Given the description of an element on the screen output the (x, y) to click on. 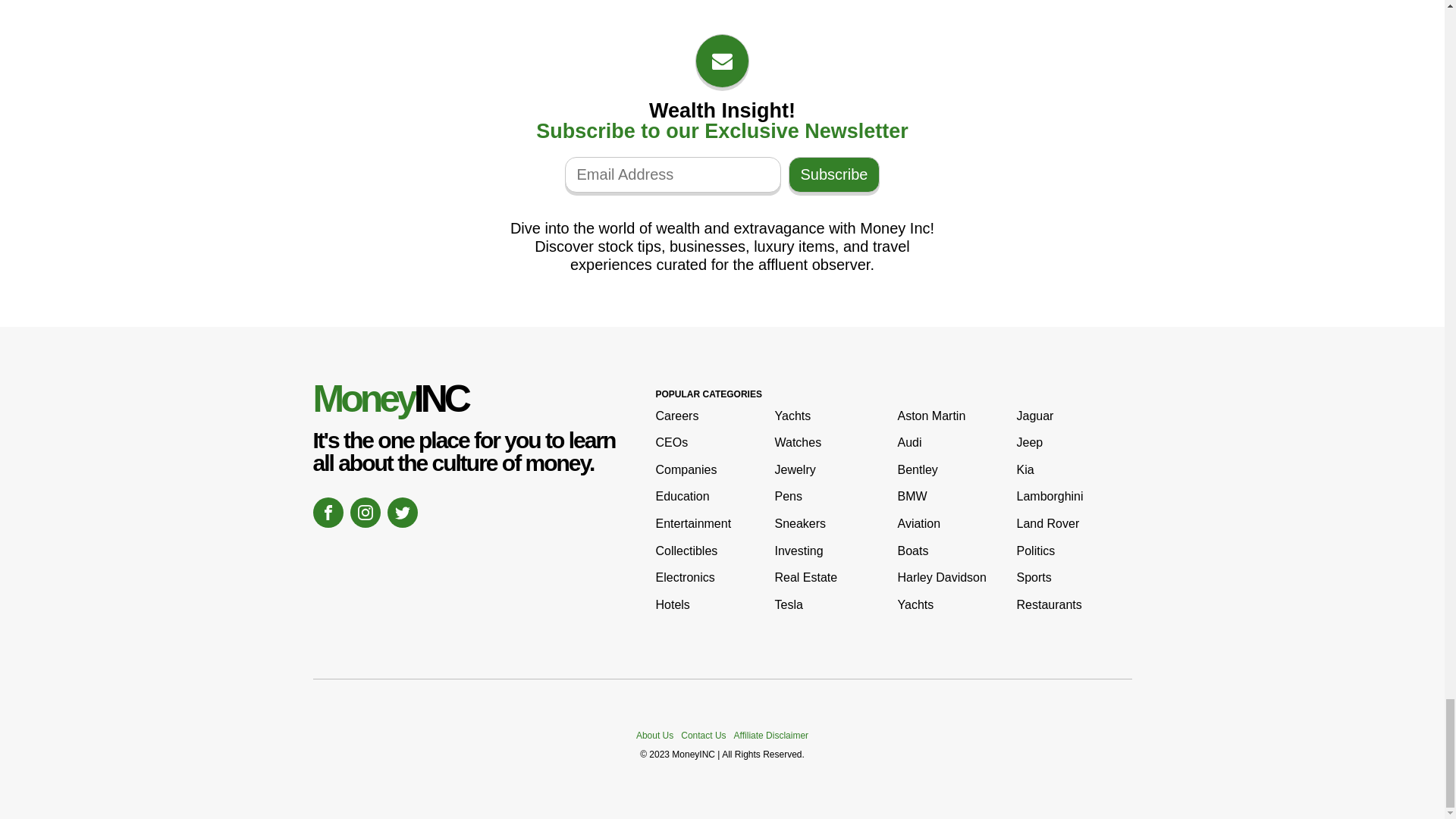
Subscribe (834, 174)
